Given the description of an element on the screen output the (x, y) to click on. 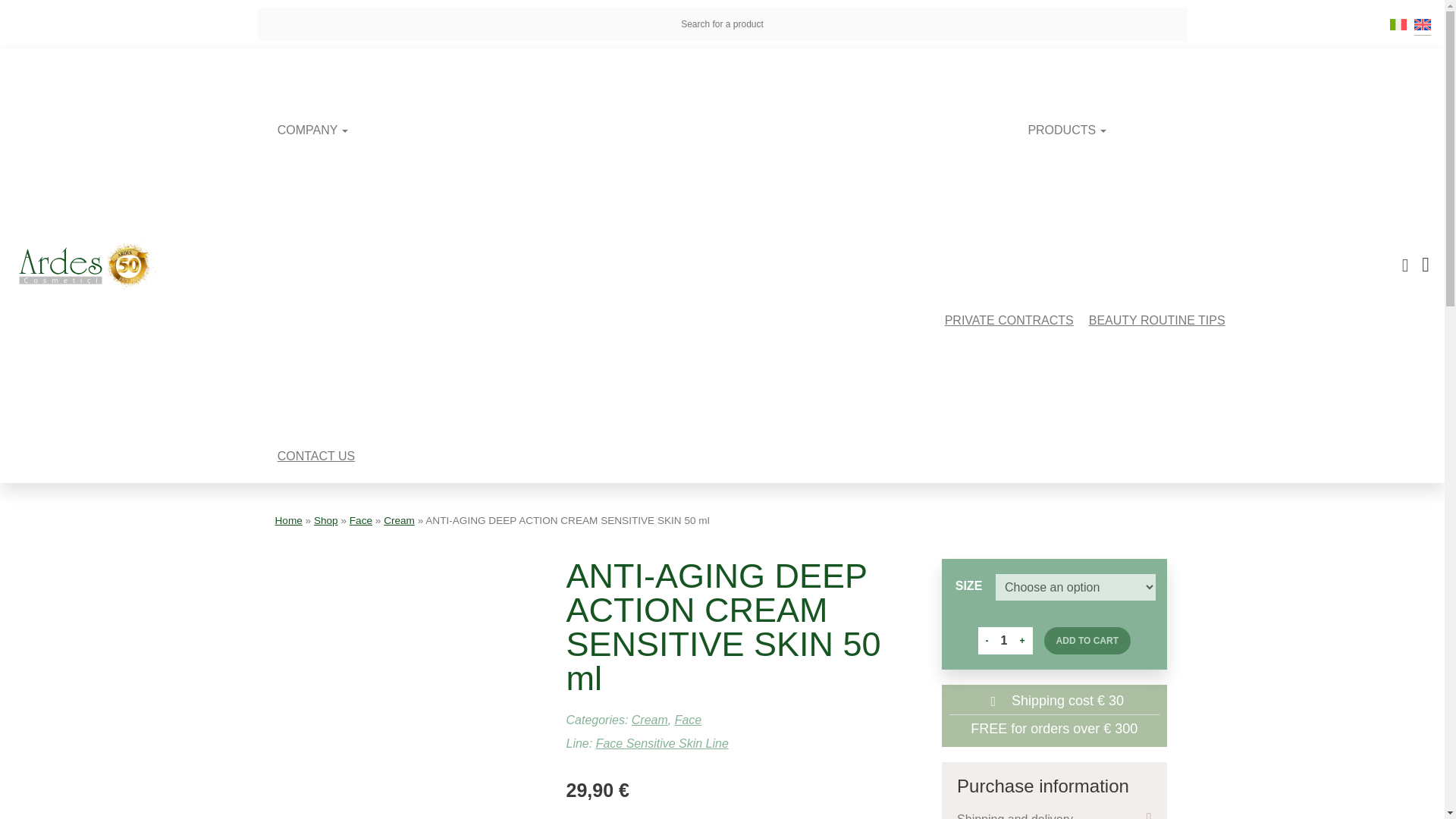
Shop (325, 520)
1 (1004, 640)
PRIVATE CONTRACTS (1009, 319)
BEAUTY ROUTINE TIPS (1157, 319)
Home (288, 520)
Cream (399, 520)
Face (688, 719)
Face (360, 520)
CONTACT US (316, 455)
Face Sensitive Skin Line (662, 743)
